Given the description of an element on the screen output the (x, y) to click on. 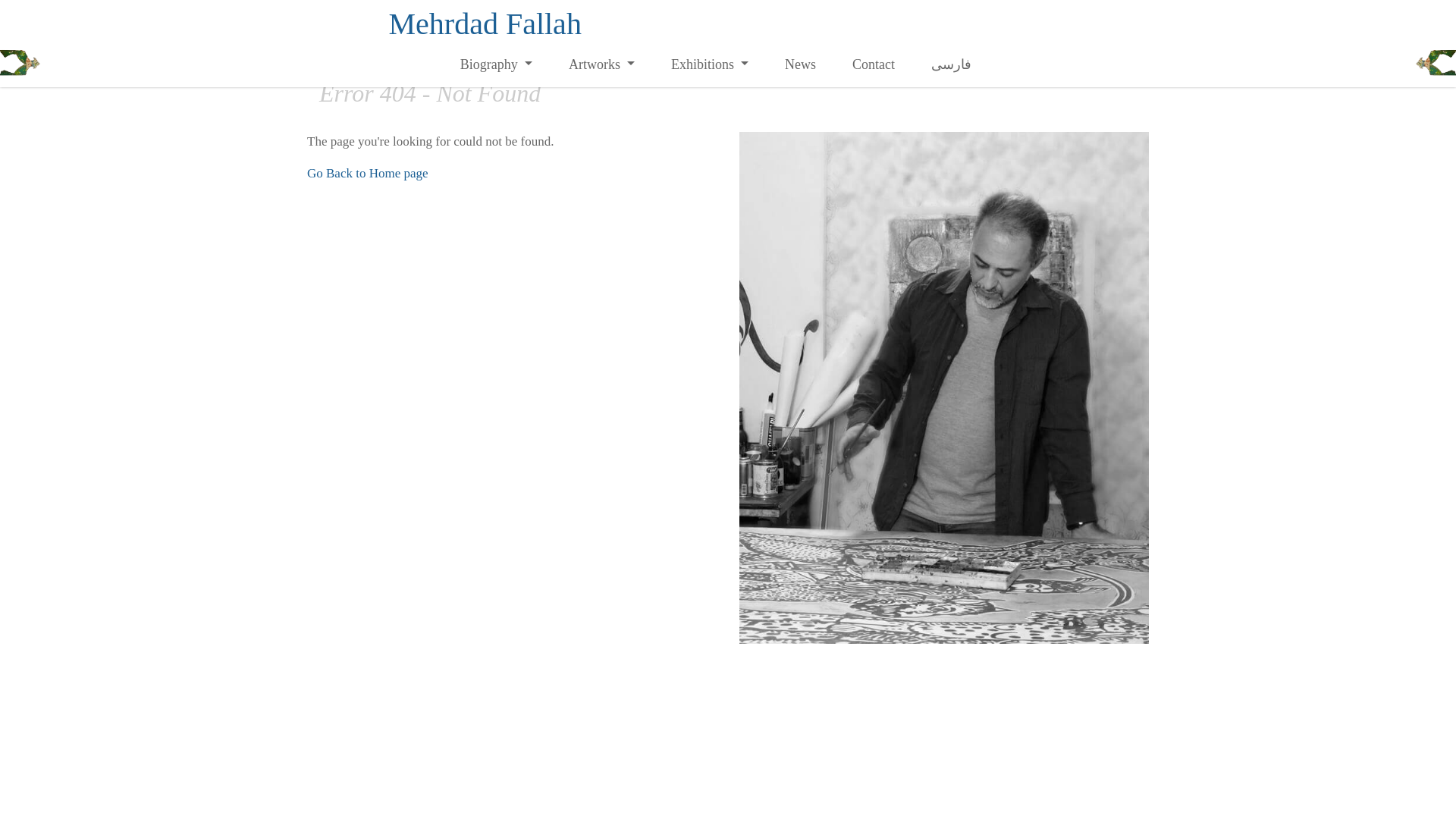
Biography (496, 64)
Mehrdad Fallah (484, 23)
Mehrdad Fallah Contemprary Artist (484, 23)
News (800, 64)
Artworks (601, 64)
Go Back to Home page (367, 173)
Exhibitions (709, 64)
Contact (873, 64)
